Given the description of an element on the screen output the (x, y) to click on. 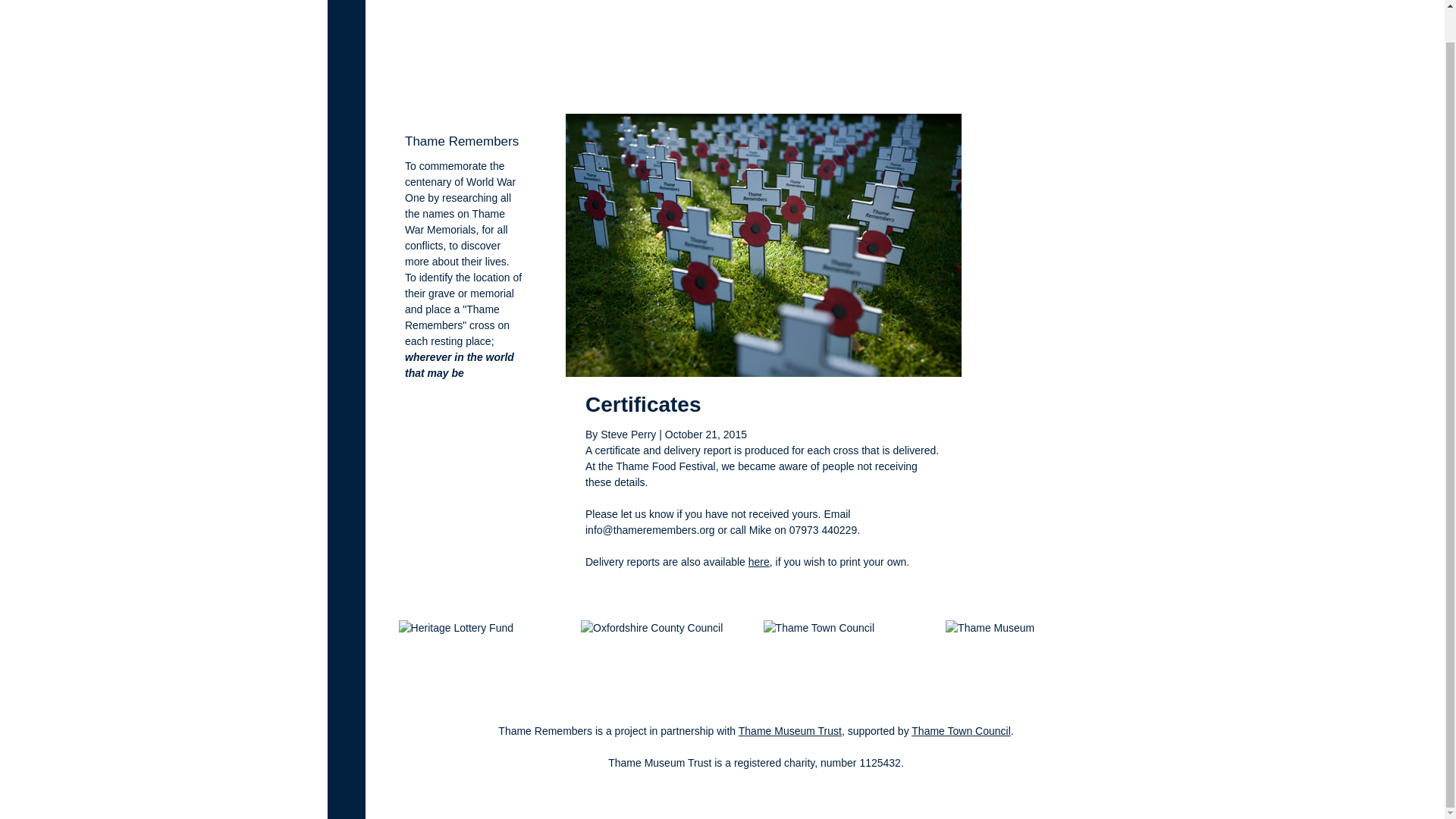
Thame Town Council (960, 730)
Volunteer (943, 67)
here (759, 562)
Thame Museum Trust (789, 730)
Home (642, 67)
Roll of Honour (793, 67)
Latest Updates (873, 67)
ThameRemembers Channel on Youtube (1040, 67)
ThameRemembers on Facebook (1077, 67)
Thame Remembers (430, 48)
Contact (994, 67)
About the Project (708, 67)
